Given the description of an element on the screen output the (x, y) to click on. 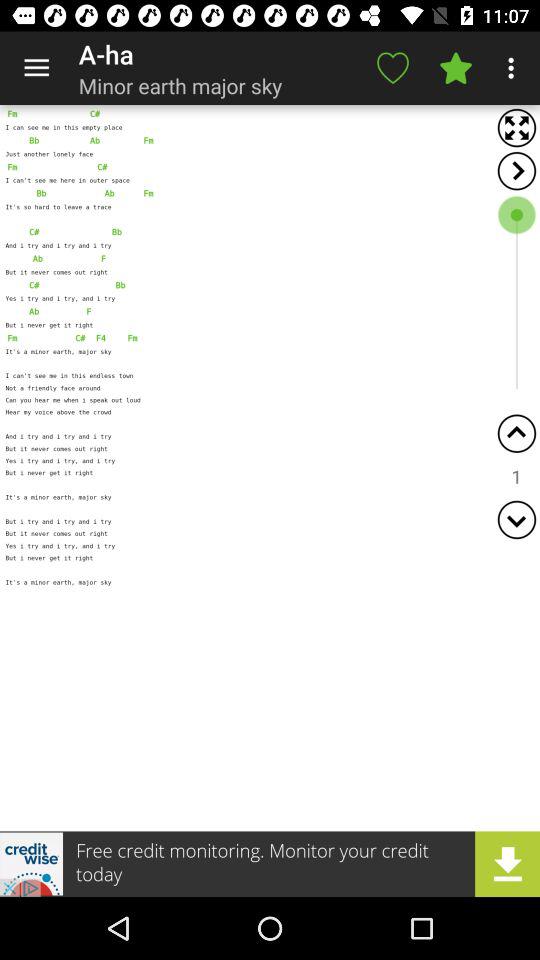
page down (516, 519)
